Given the description of an element on the screen output the (x, y) to click on. 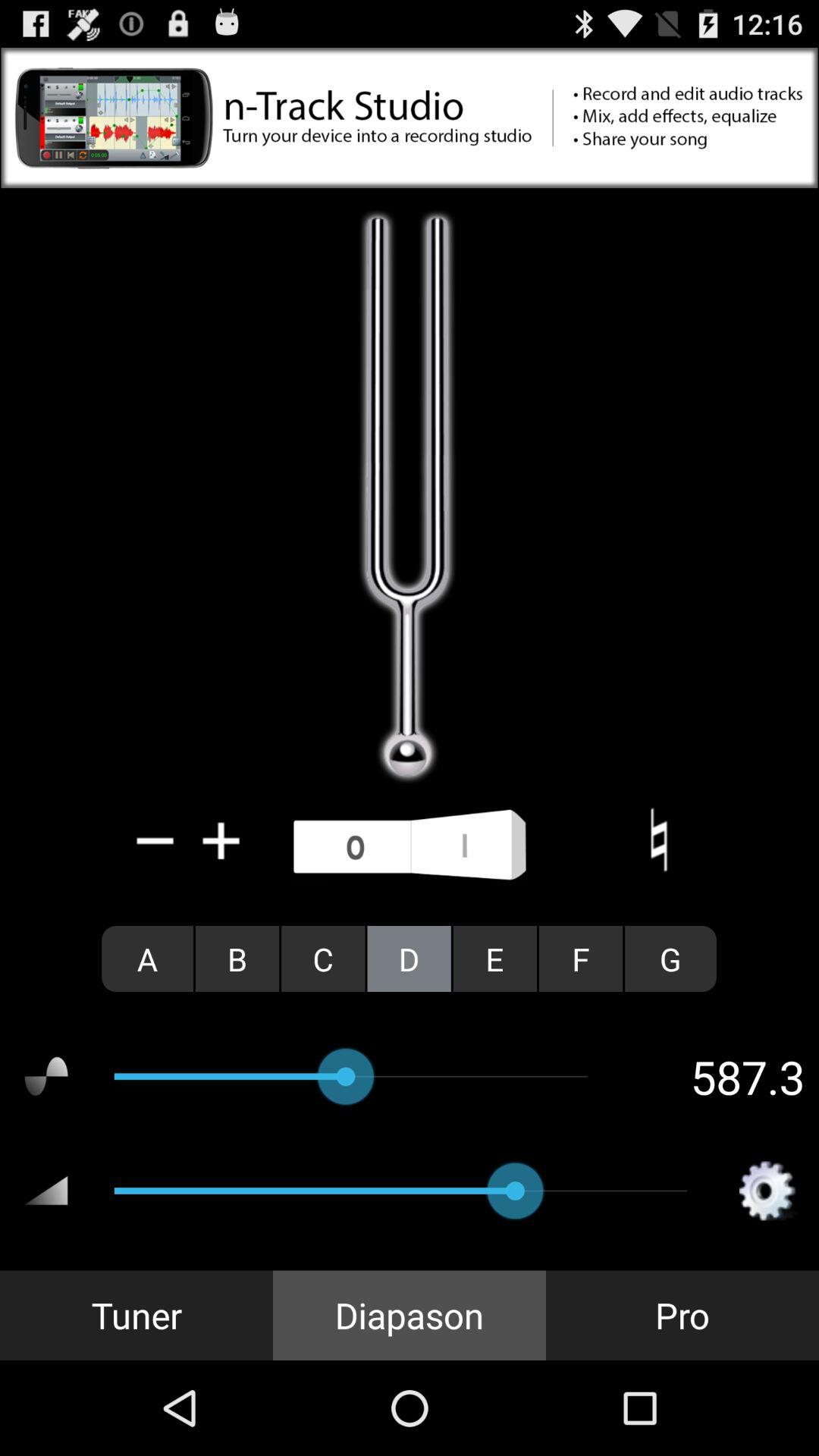
choose icon next to the b icon (323, 958)
